Given the description of an element on the screen output the (x, y) to click on. 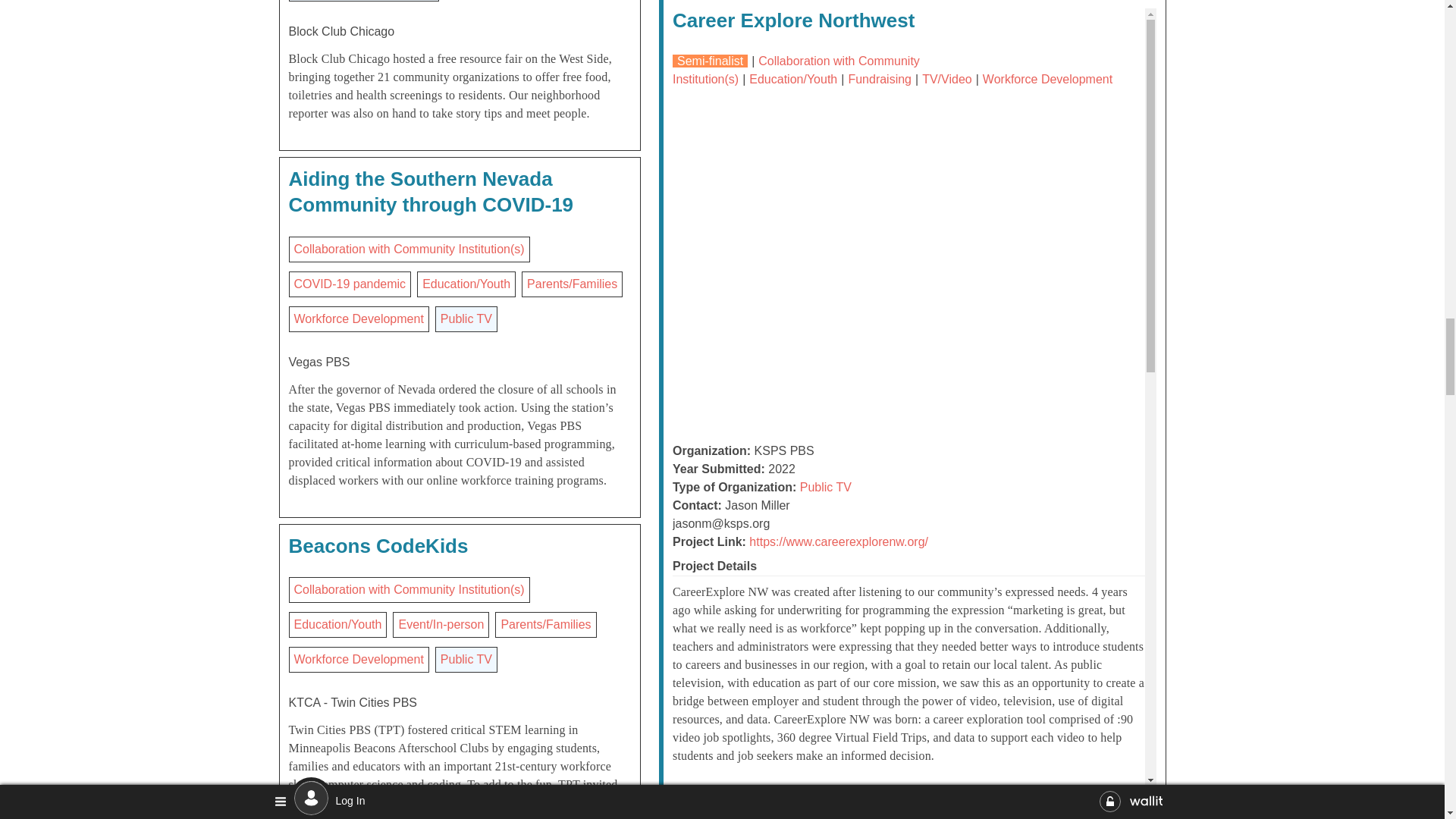
Permalink to Beacons CodeKids (377, 545)
